Given the description of an element on the screen output the (x, y) to click on. 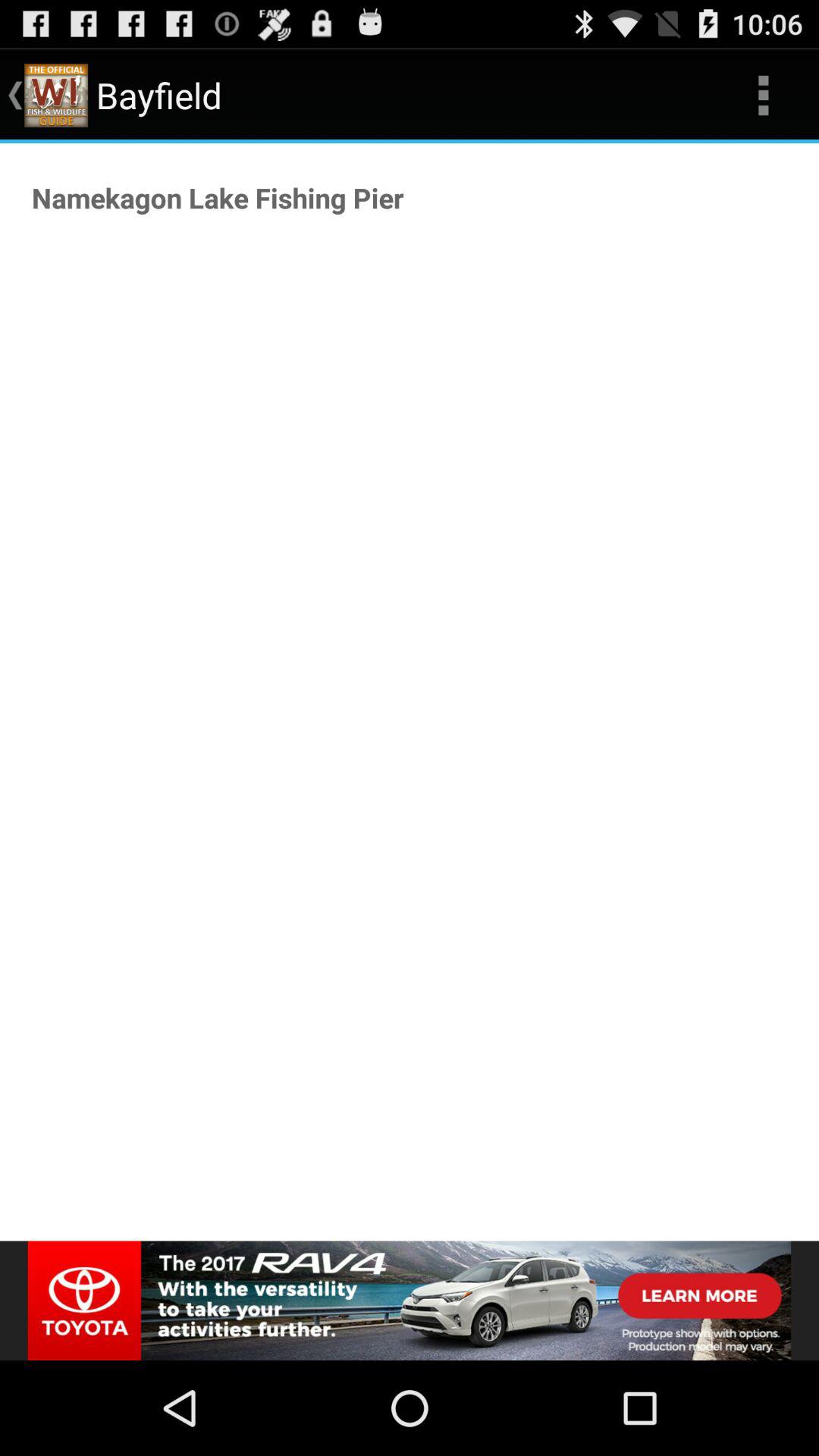
turn on the app next to the bayfield icon (763, 95)
